Given the description of an element on the screen output the (x, y) to click on. 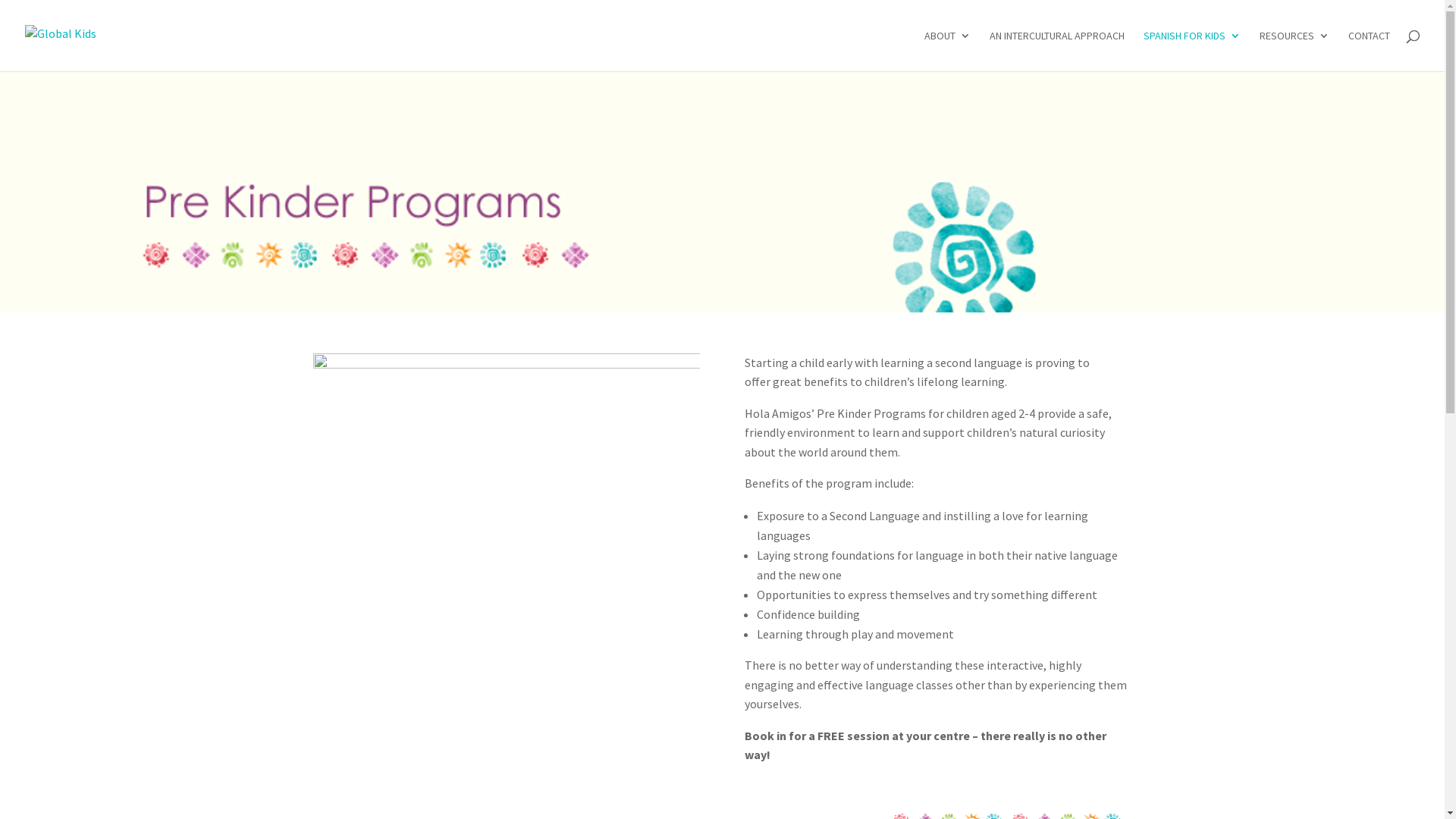
RESOURCES Element type: text (1294, 50)
SPANISH FOR KIDS Element type: text (1191, 50)
ABOUT Element type: text (947, 50)
AN INTERCULTURAL APPROACH Element type: text (1056, 50)
CONTACT Element type: text (1369, 50)
